Given the description of an element on the screen output the (x, y) to click on. 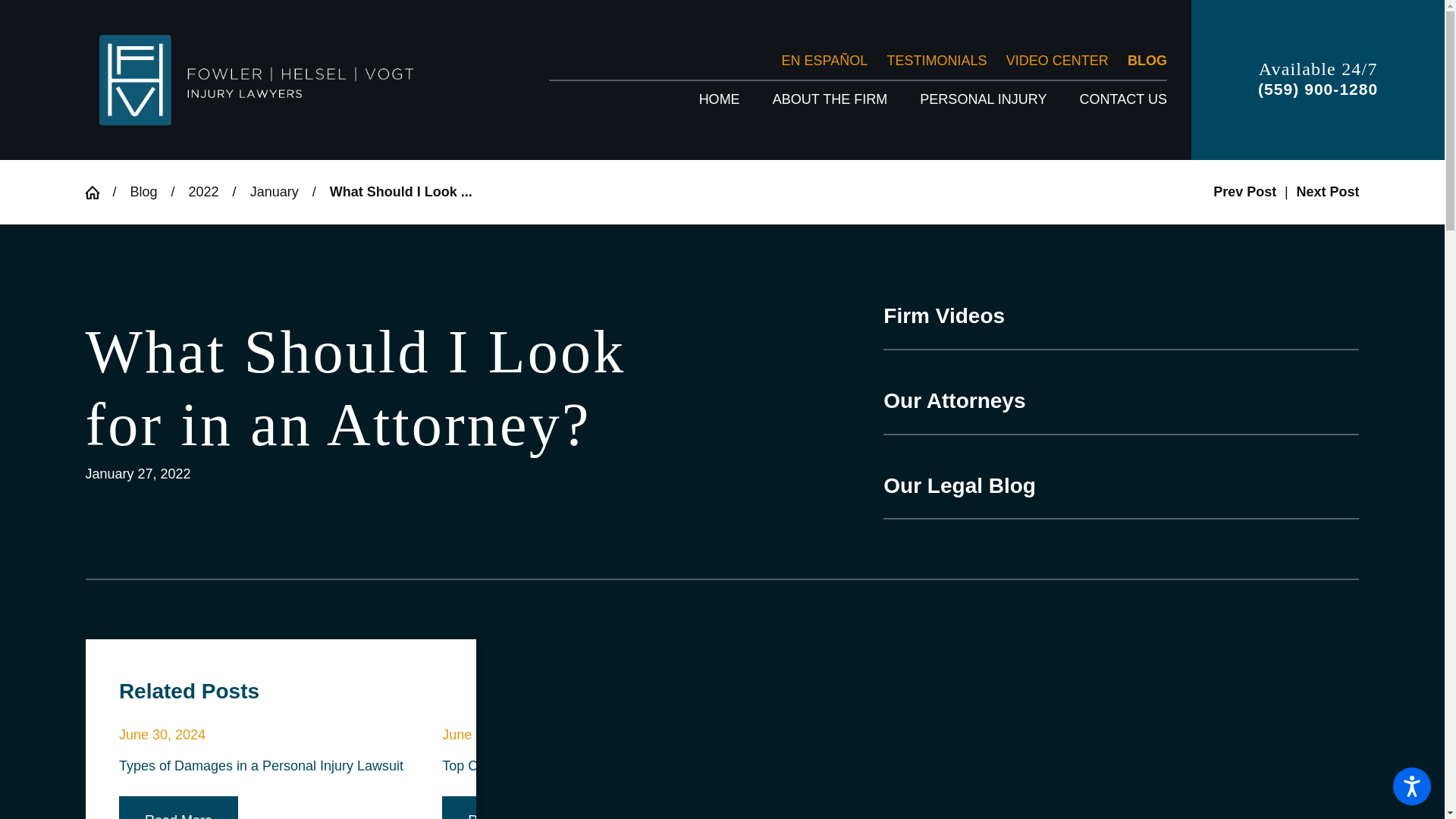
HOME (718, 99)
Open the accessibility options menu (1412, 786)
Go Home (98, 192)
ABOUT THE FIRM (829, 99)
TESTIMONIALS (936, 60)
PERSONAL INJURY (983, 99)
VIDEO CENTER (1057, 60)
BLOG (1146, 60)
